Given the description of an element on the screen output the (x, y) to click on. 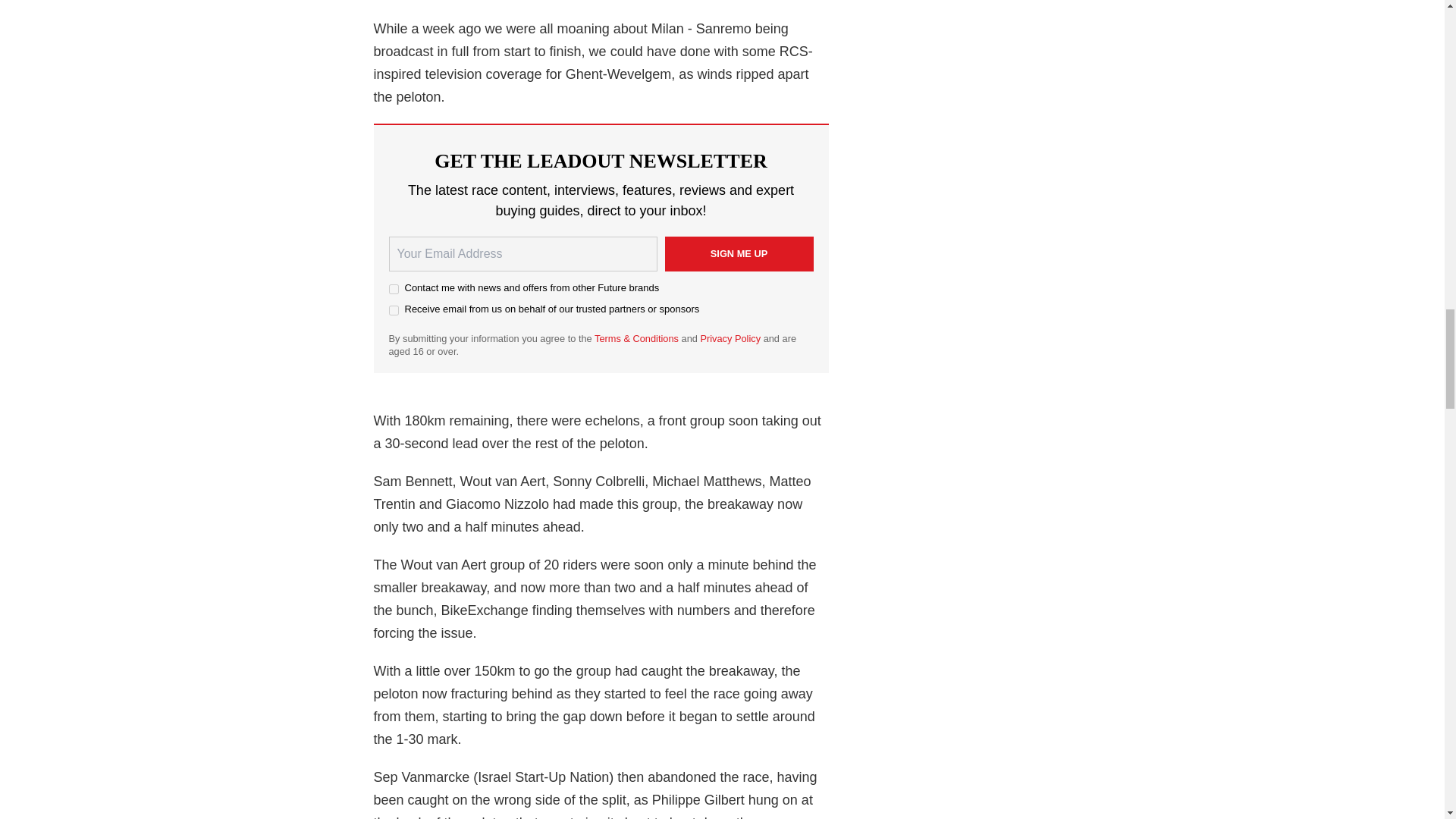
Sign me up (737, 253)
on (392, 289)
on (392, 310)
